Given the description of an element on the screen output the (x, y) to click on. 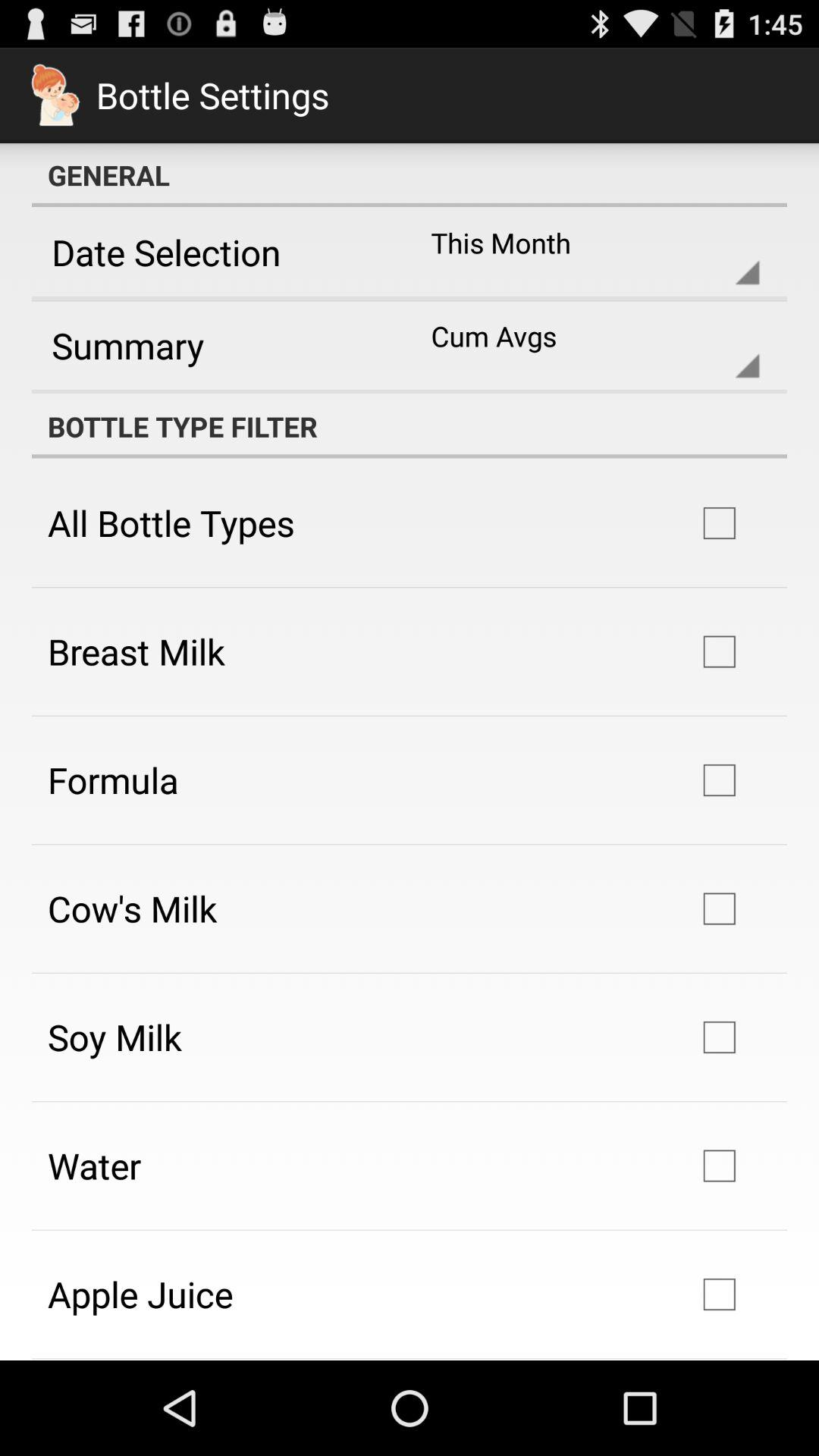
select the breast milk (136, 651)
